Given the description of an element on the screen output the (x, y) to click on. 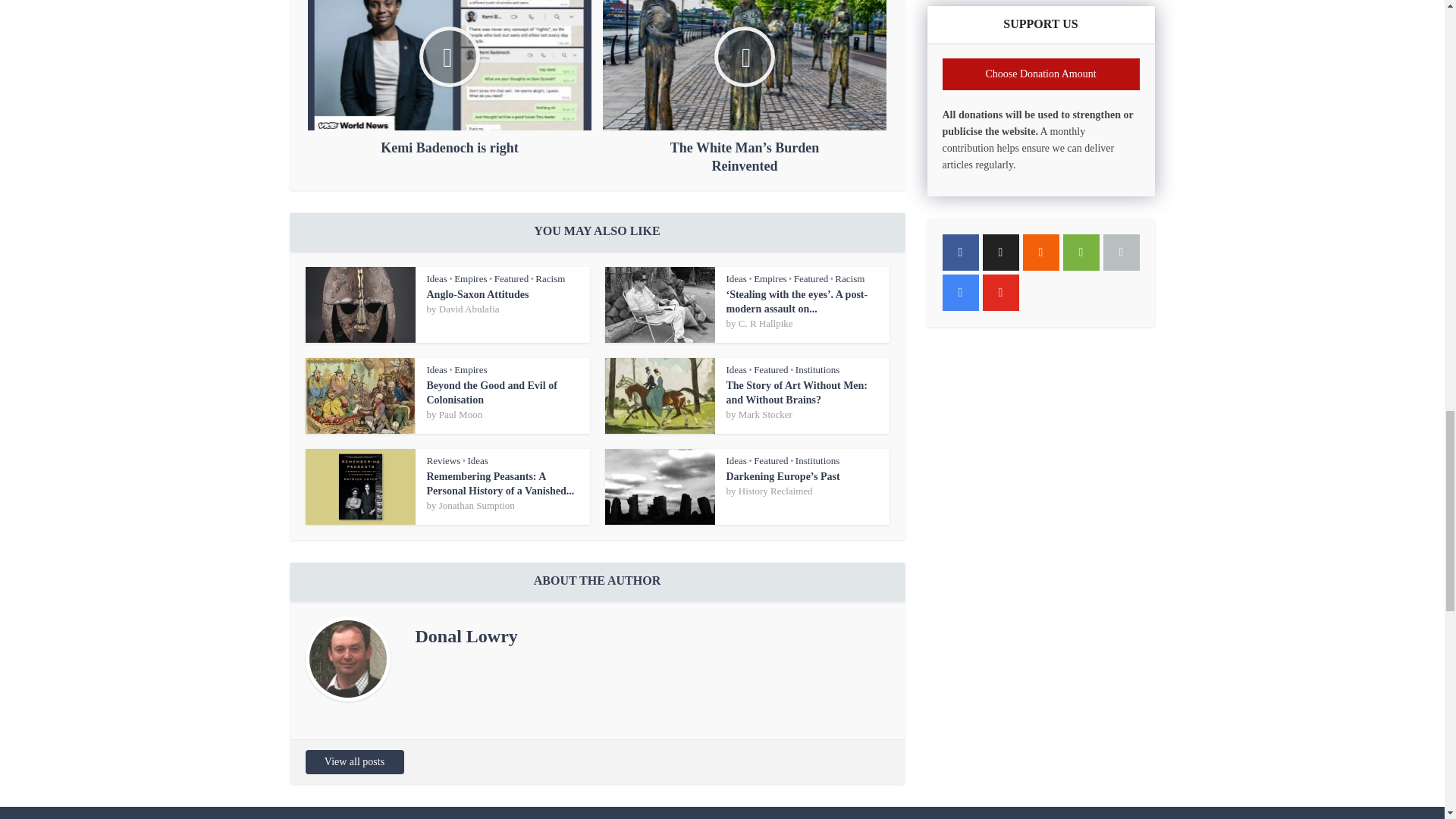
Beyond the Good and Evil of Colonisation (491, 392)
Remembering Peasants: A Personal History of a Vanished World (499, 483)
The Story of Art Without Men: and Without Brains? (796, 392)
Anglo-Saxon Attitudes (477, 294)
